Given the description of an element on the screen output the (x, y) to click on. 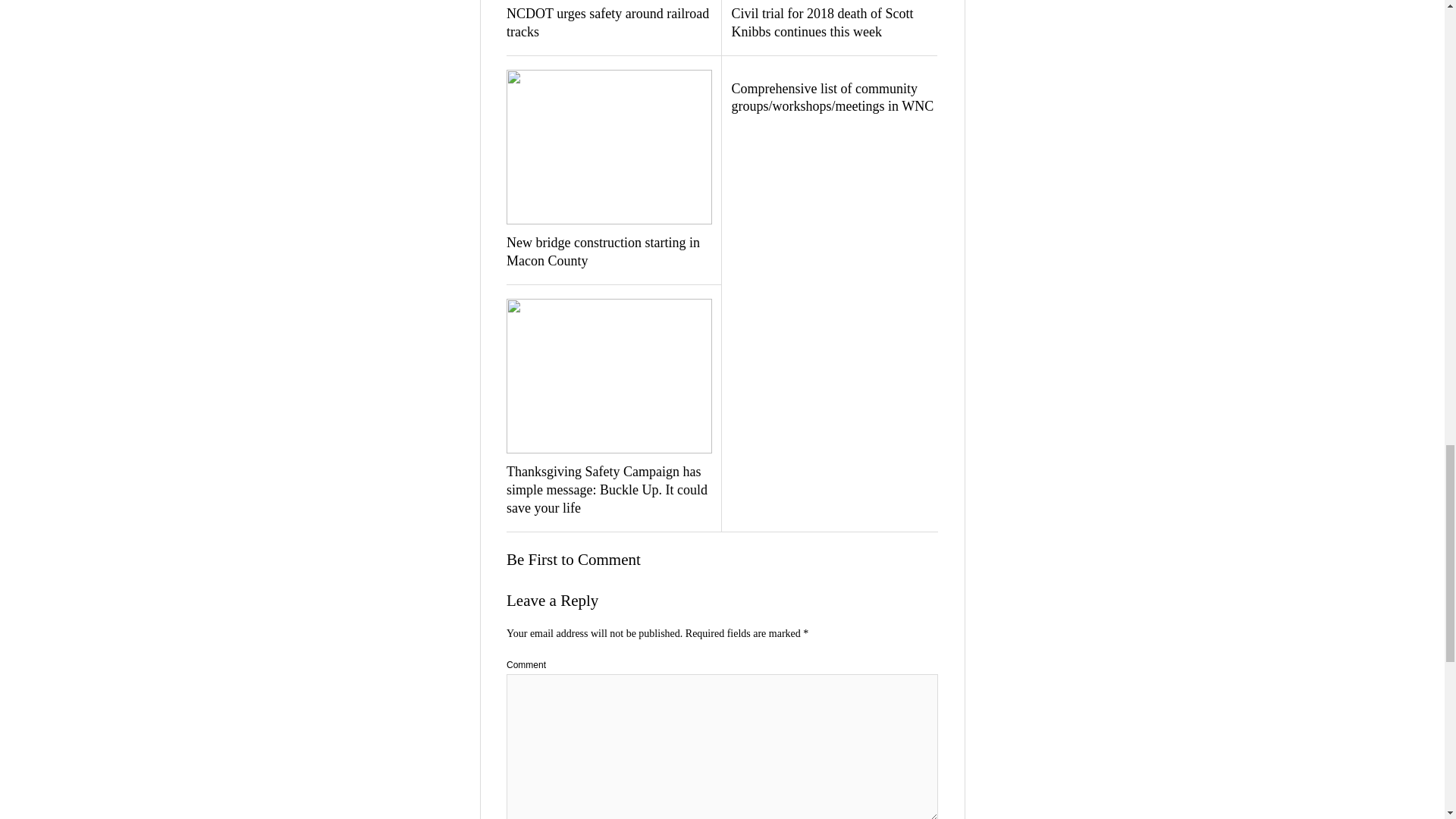
NCDOT urges safety around railroad tracks (608, 22)
New bridge construction starting in Macon County (608, 252)
